Given the description of an element on the screen output the (x, y) to click on. 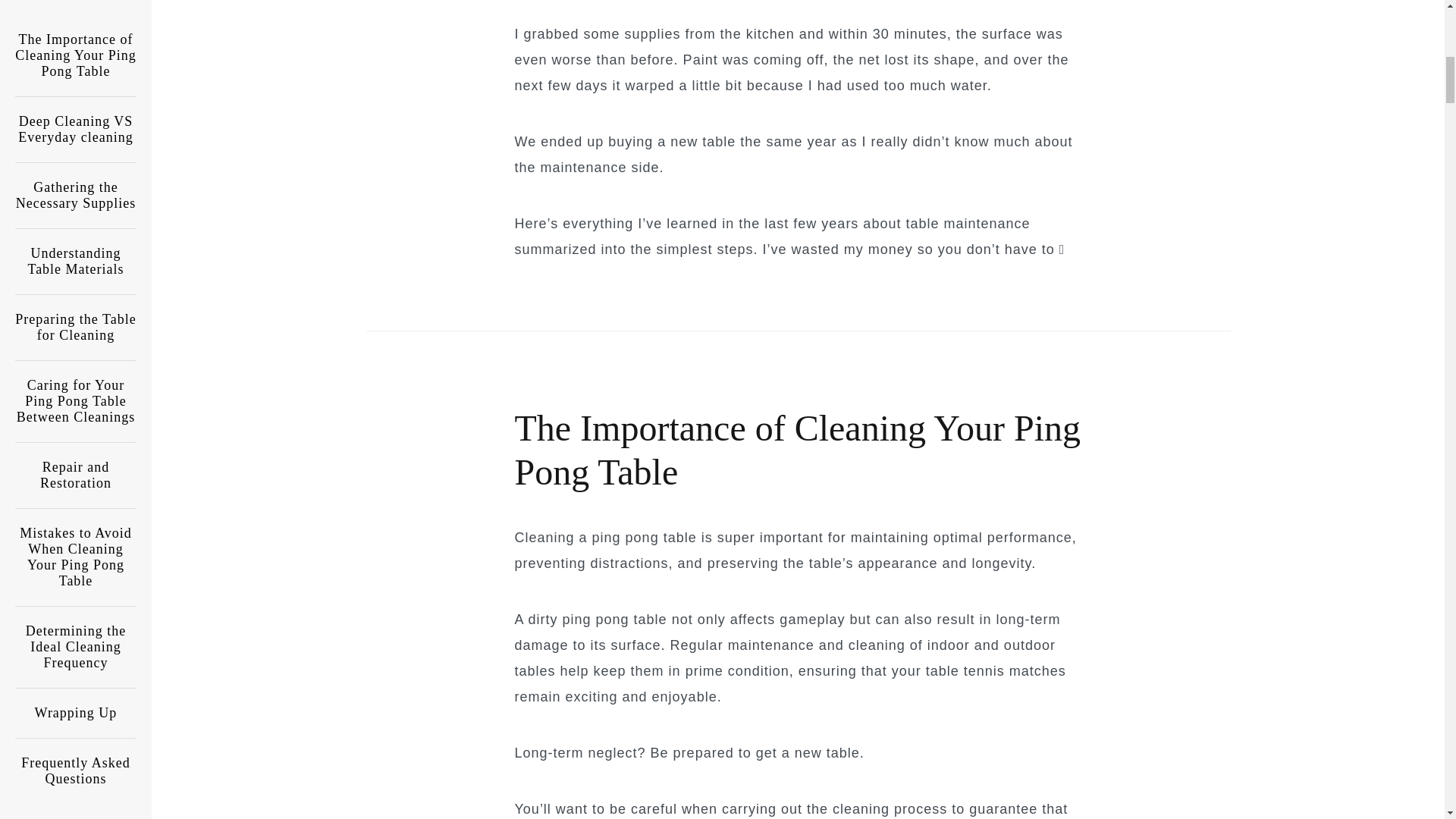
Determining the Ideal Cleaning Frequency (75, 510)
Repair and Restoration (75, 338)
Preparing the Table for Cleaning (75, 190)
Caring for Your Ping Pong Table Between Cleanings (75, 264)
Mistakes to Avoid When Cleaning Your Ping Pong Table (75, 420)
Wrapping Up (75, 576)
Deep Cleaning VS Everyday cleaning (75, 12)
Frequently Asked Questions (75, 634)
Understanding Table Materials (75, 124)
Gathering the Necessary Supplies (75, 58)
